Given the description of an element on the screen output the (x, y) to click on. 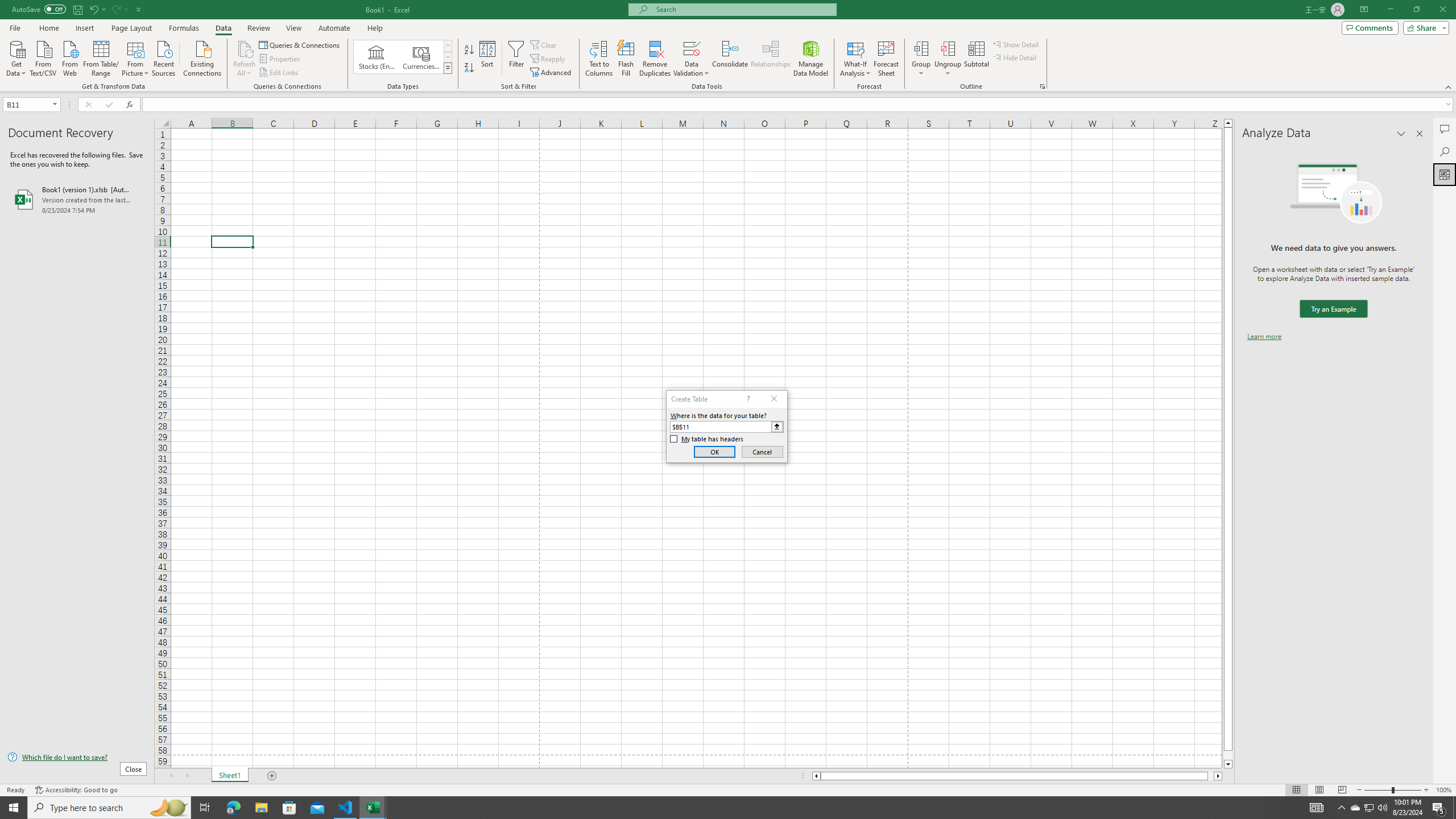
Page Break Preview (1342, 790)
From Web (69, 57)
Class: NetUIImage (447, 68)
Scroll Right (187, 775)
Which file do I want to save? (77, 757)
Minimize (1390, 9)
Zoom (1392, 790)
Sort A to Z (469, 49)
Sheet1 (229, 775)
Queries & Connections (300, 44)
Restore Down (1416, 9)
Get Data (16, 57)
